Given the description of an element on the screen output the (x, y) to click on. 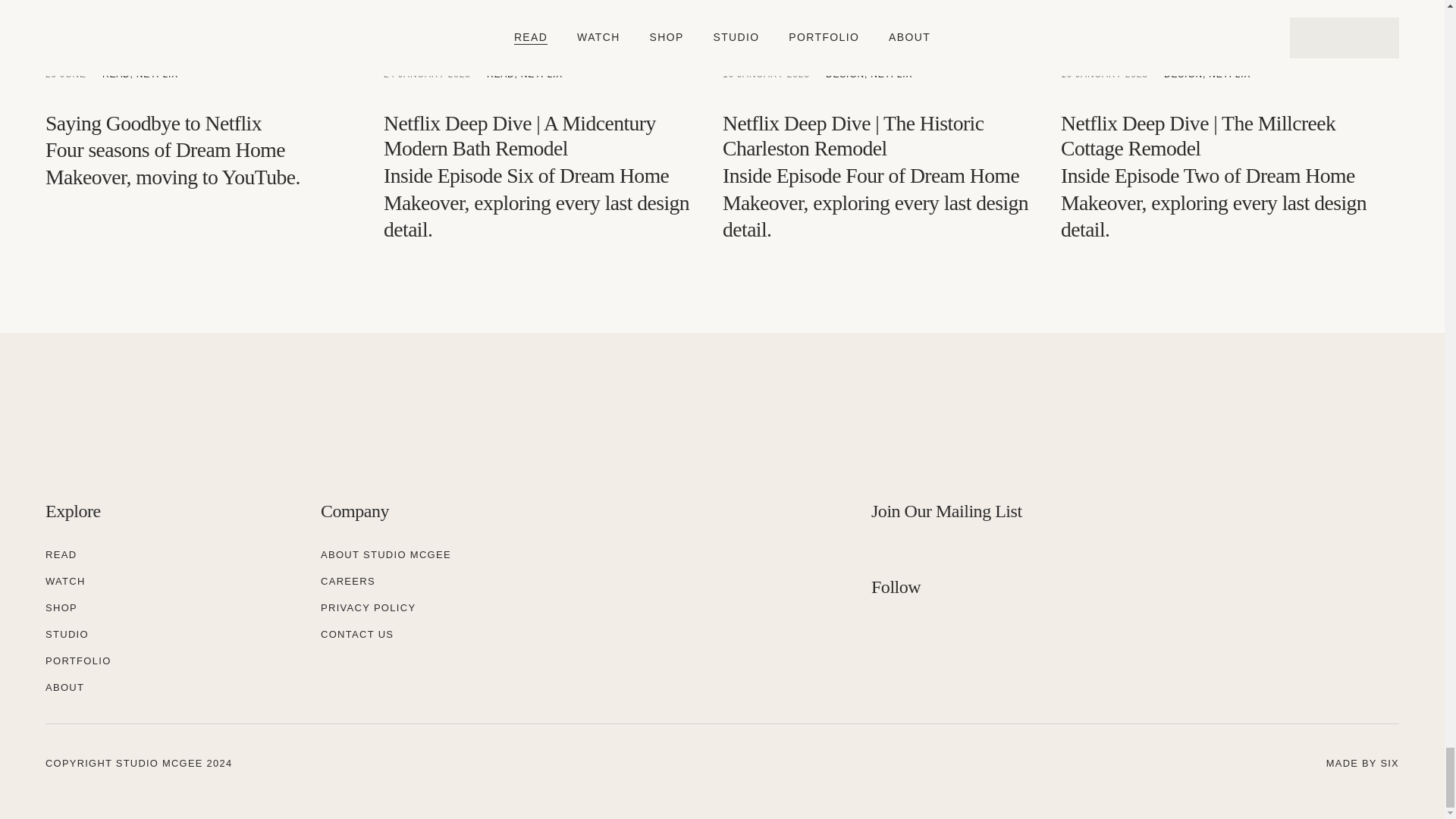
Studio McGee homepage (166, 431)
